Given the description of an element on the screen output the (x, y) to click on. 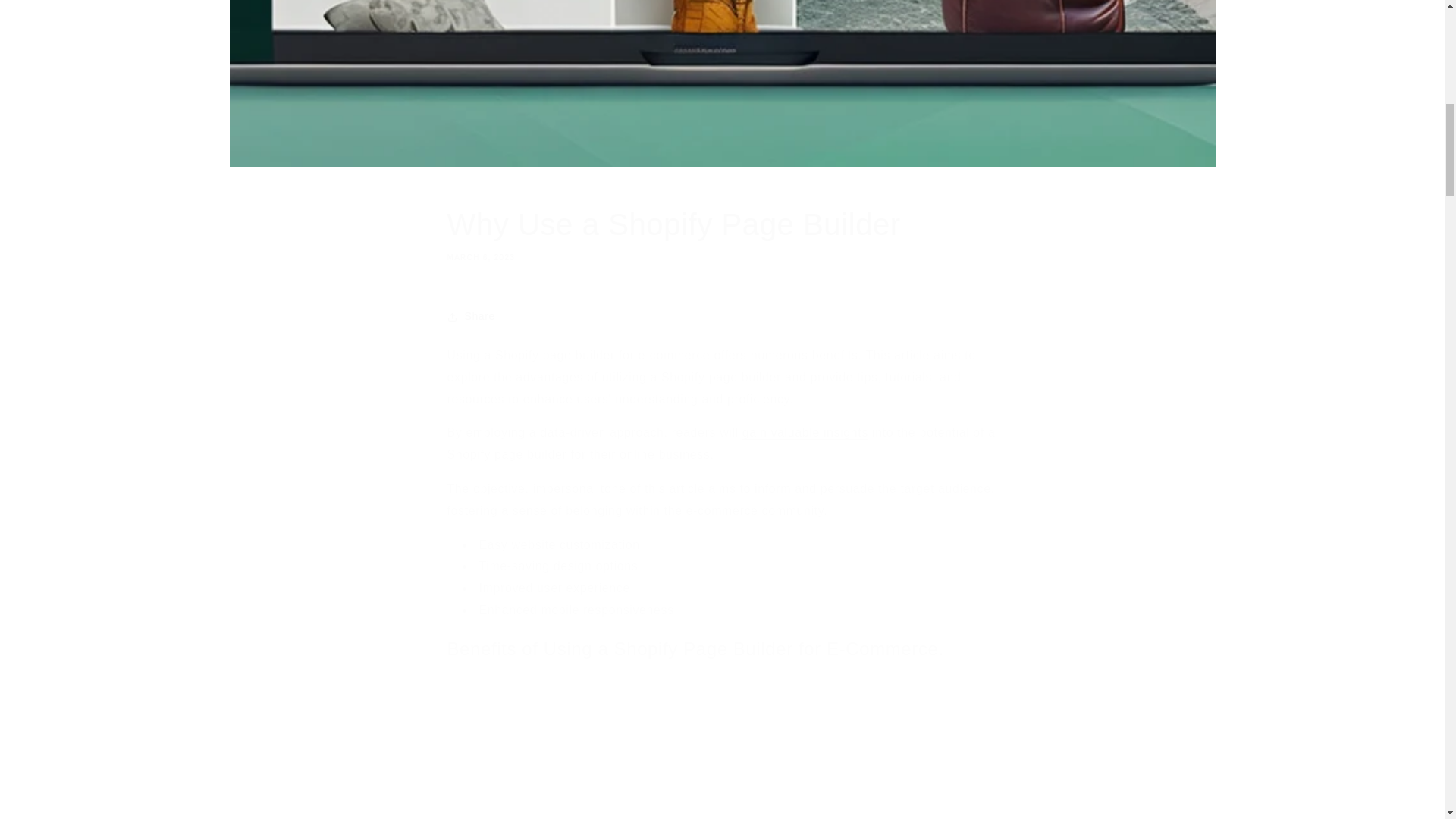
Share (721, 233)
gain valuable insights (721, 316)
gain valuable insights (804, 431)
YouTube video player (804, 431)
